Given the description of an element on the screen output the (x, y) to click on. 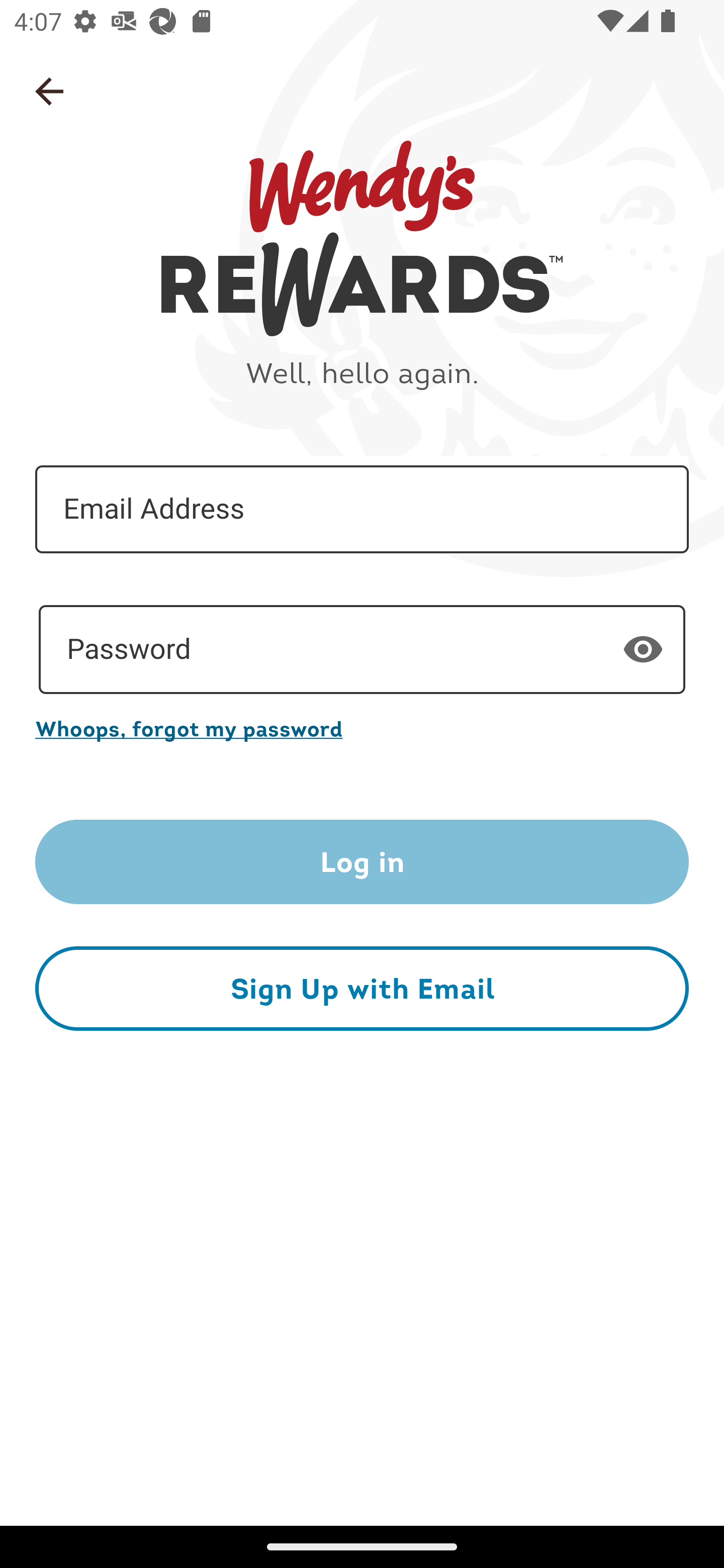
Navigate up (49, 91)
Email Address (361, 509)
Password (361, 649)
Show password (642, 648)
Whoops, forgot my password (361, 728)
Log in (361, 862)
Sign Up with Email (361, 988)
